Given the description of an element on the screen output the (x, y) to click on. 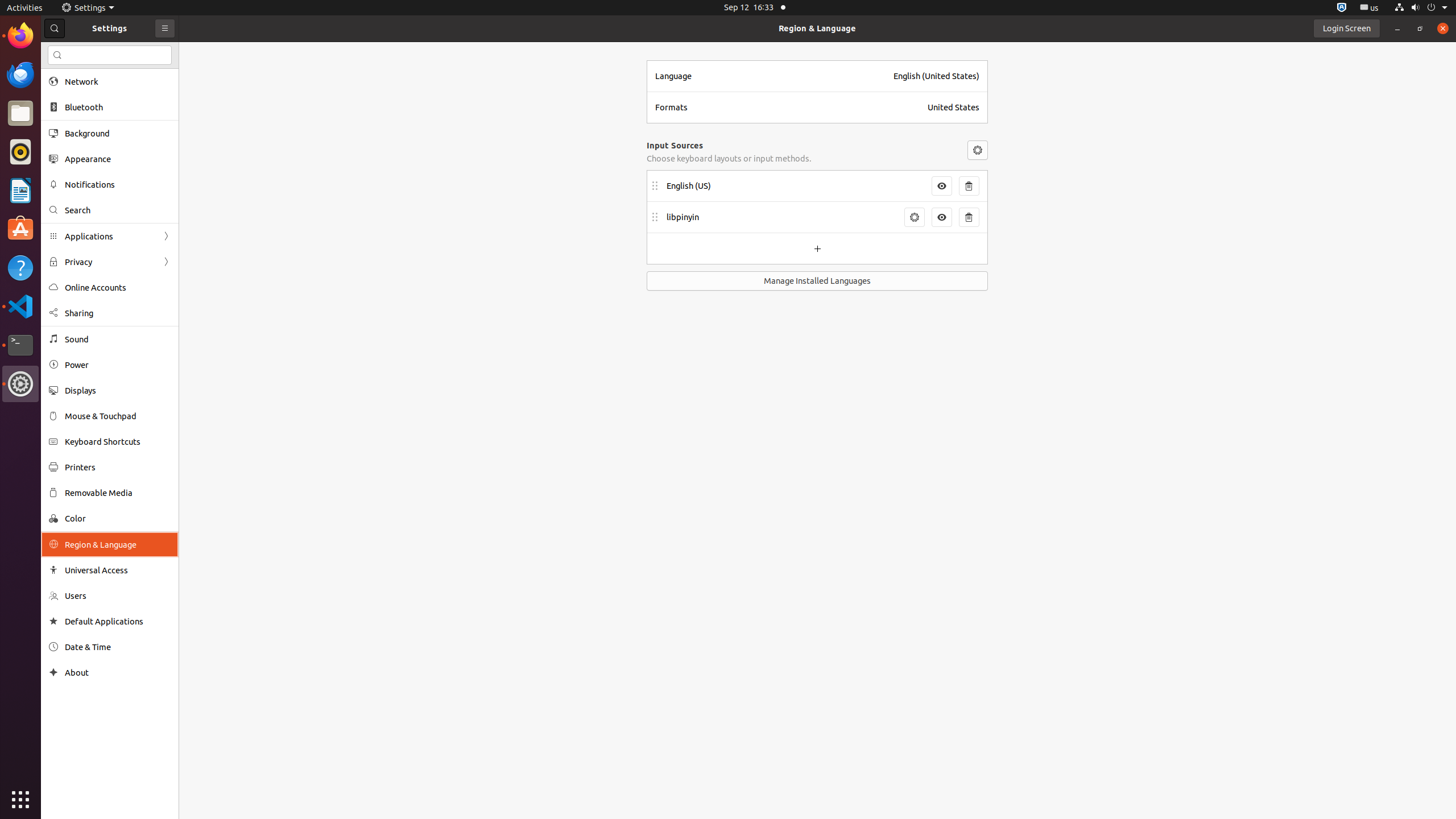
Mouse & Touchpad Element type: label (117, 415)
Background Element type: label (117, 133)
edit-find-symbolic Element type: icon (56, 54)
Power Element type: label (117, 364)
Sharing Element type: label (117, 312)
